Given the description of an element on the screen output the (x, y) to click on. 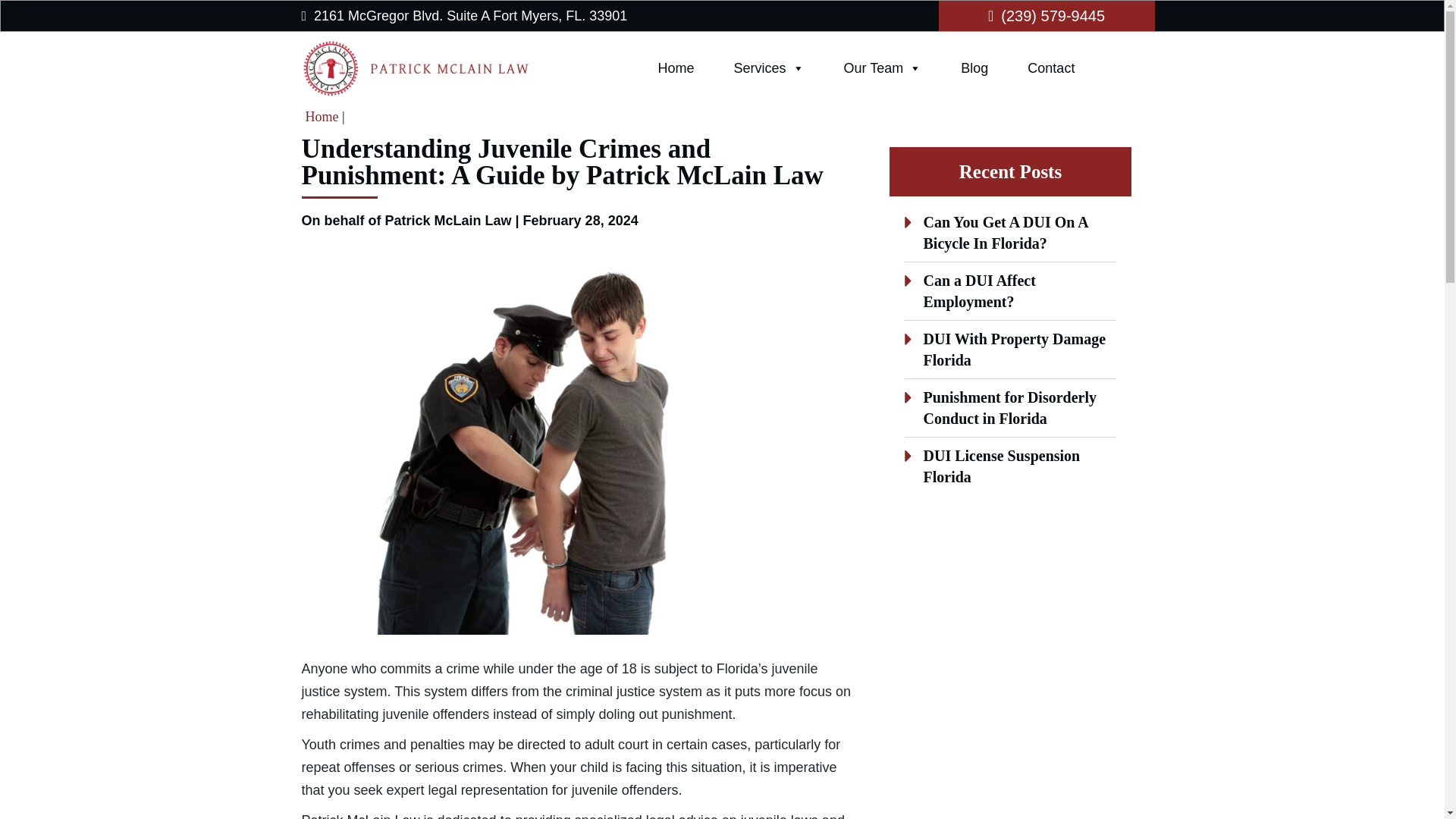
Home (676, 68)
DUI With Property Damage Florida (1014, 349)
Contact (1050, 68)
Can You Get A DUI On A Bicycle In Florida?  (1005, 232)
Patrick McLain Law (434, 68)
Can a DUI Affect Employment?  (979, 290)
Call Us (1046, 15)
Our Team (883, 68)
Home (320, 116)
Services (769, 68)
